Given the description of an element on the screen output the (x, y) to click on. 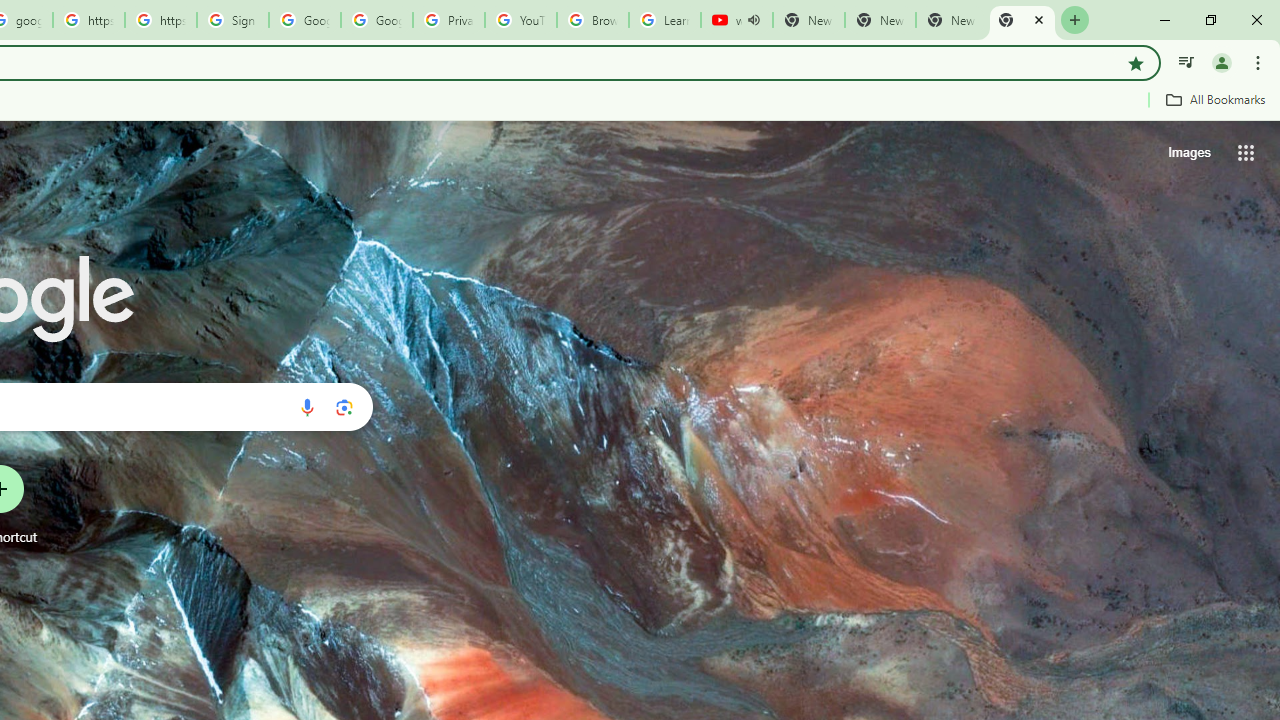
https://scholar.google.com/ (88, 20)
New Tab (880, 20)
https://scholar.google.com/ (161, 20)
Browse Chrome as a guest - Computer - Google Chrome Help (592, 20)
New Tab (1022, 20)
